Given the description of an element on the screen output the (x, y) to click on. 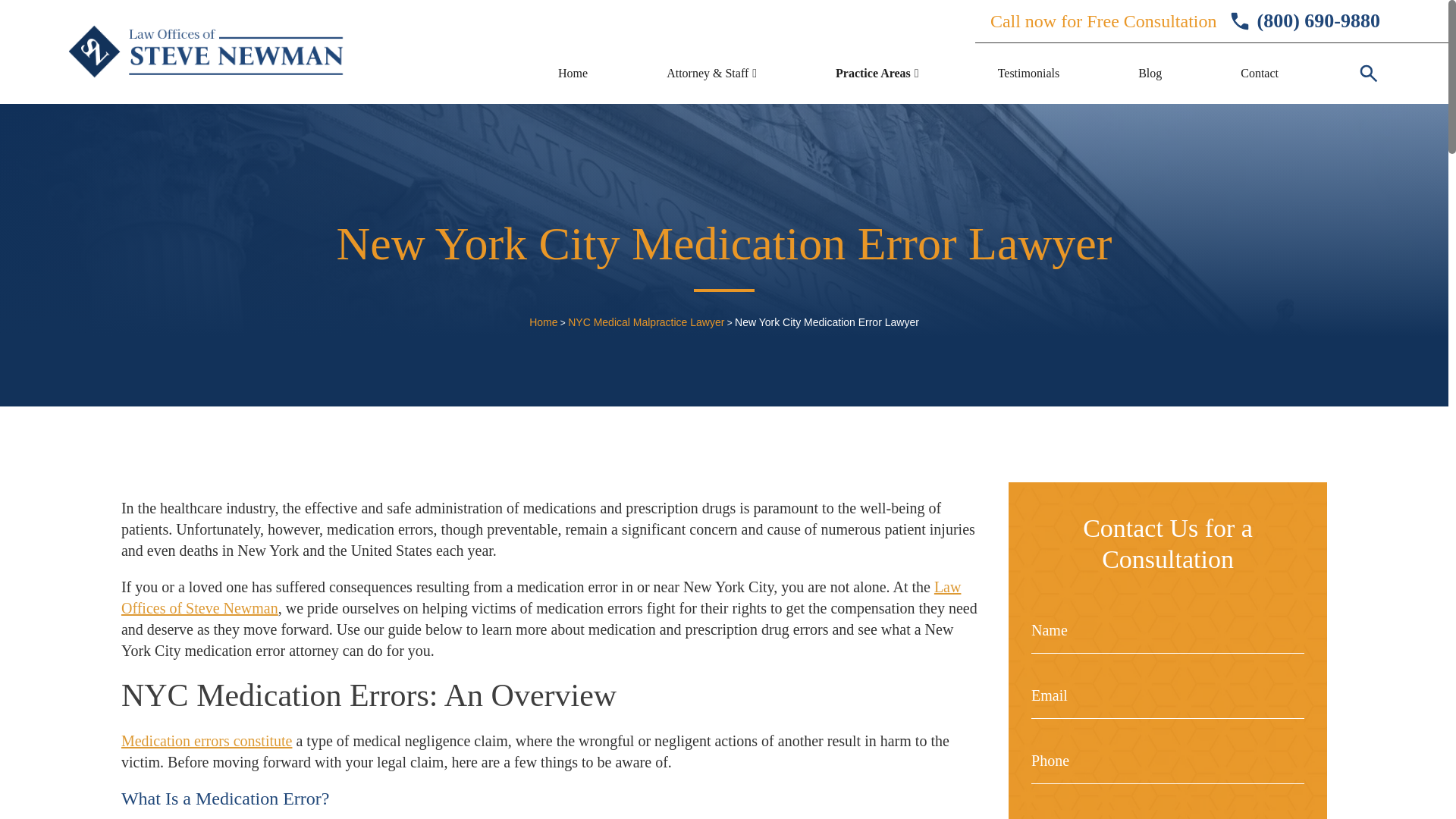
Practice Areas (873, 73)
Testimonials (1028, 73)
Contact (1259, 73)
Medication errors constitute (206, 740)
NYC Medical Malpractice Lawyer (645, 322)
Blog (1149, 73)
Home (543, 322)
Law Offices of Steve Newman (540, 597)
Home (572, 73)
